Given the description of an element on the screen output the (x, y) to click on. 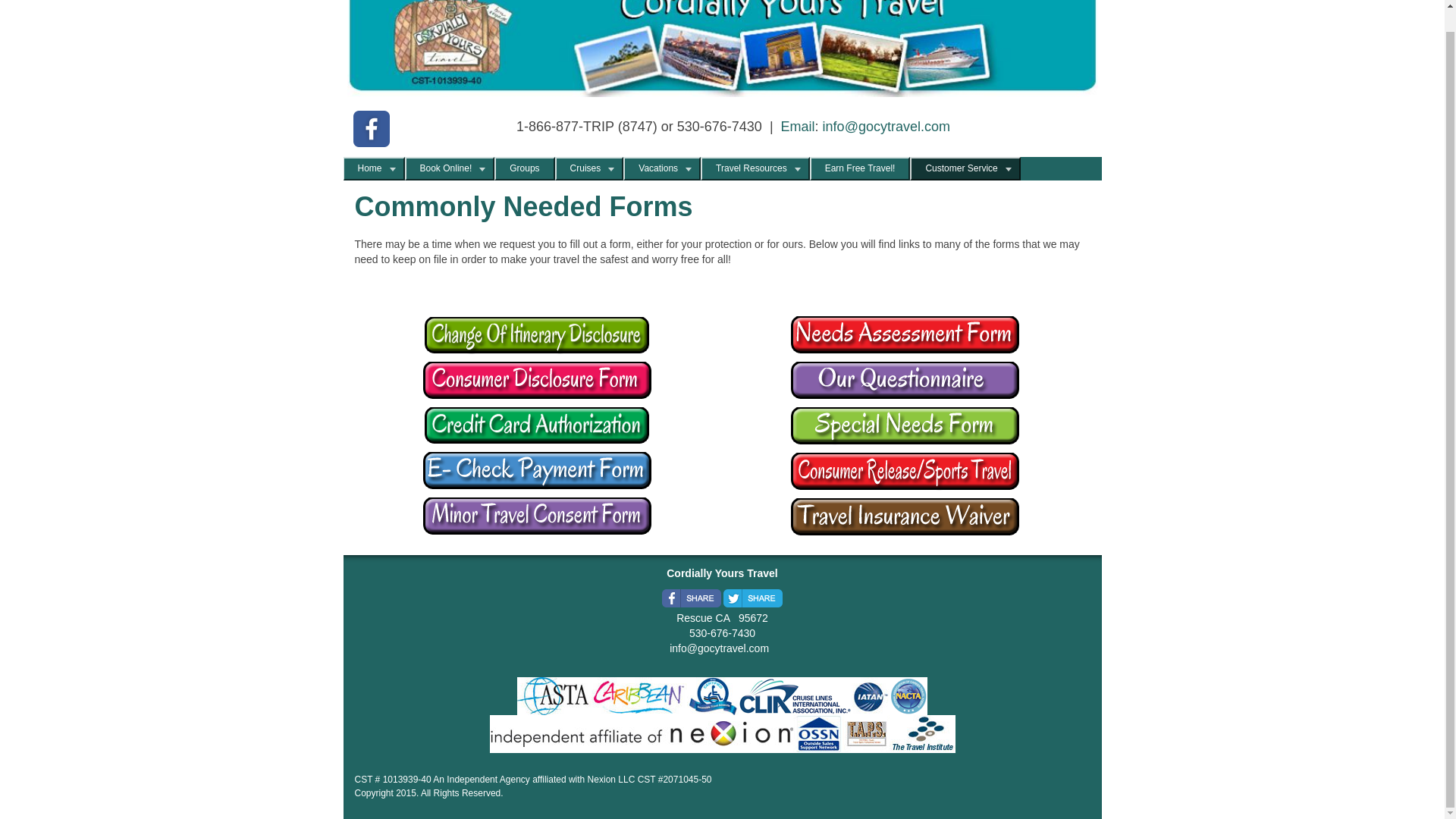
Earn Free Travel! (859, 168)
Book Online! (446, 168)
Customer Service (960, 168)
Groups (524, 168)
Vacations (657, 168)
Email (797, 126)
Visit our Facebook page (371, 128)
Travel Resources (750, 168)
Cruises (585, 168)
Share this page to Twitter (753, 597)
